Given the description of an element on the screen output the (x, y) to click on. 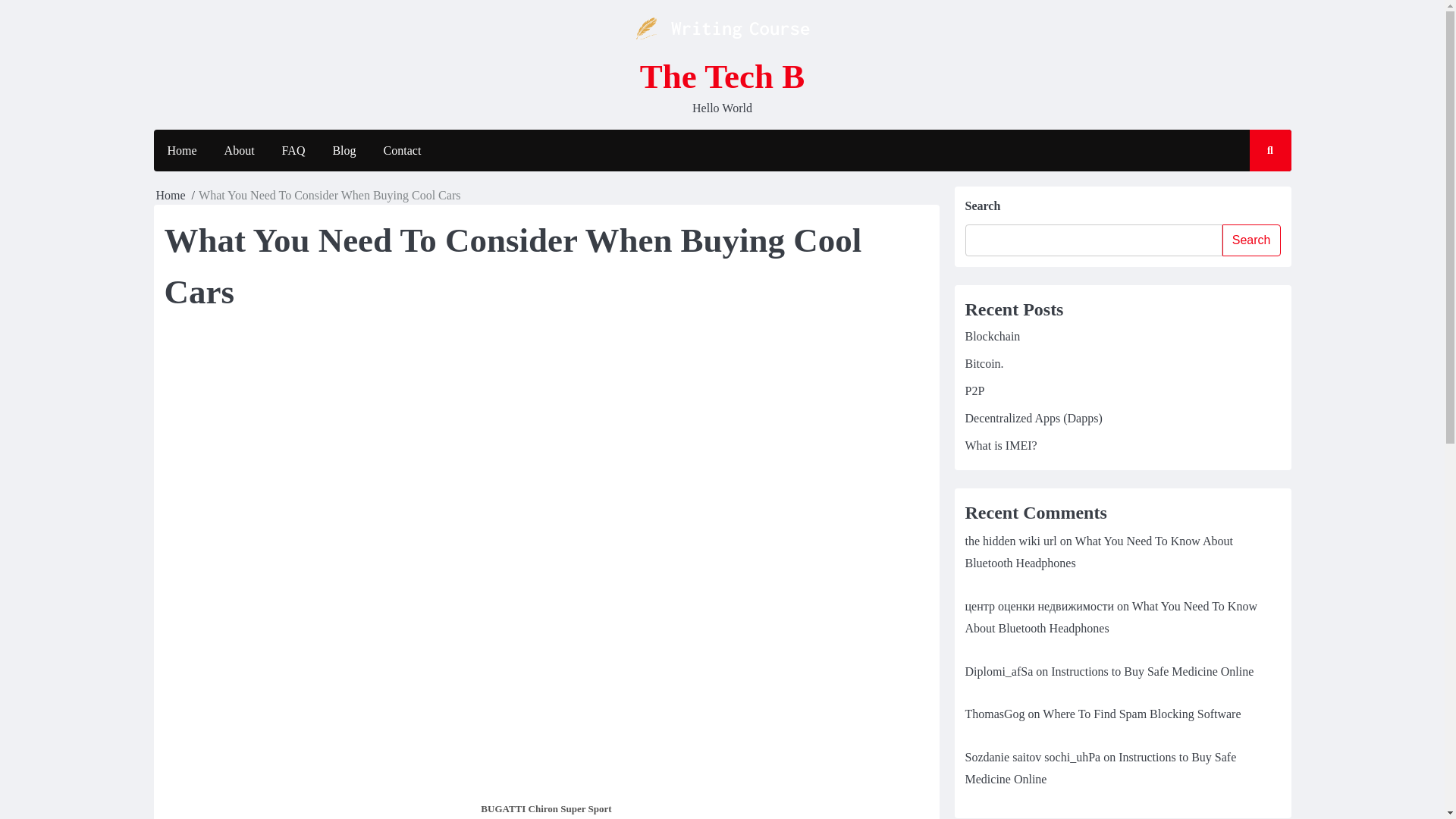
FAQ (292, 150)
Blog (343, 150)
the hidden wiki url (1010, 540)
ThomasGog (994, 713)
P2P (973, 390)
Home (180, 150)
Instructions to Buy Safe Medicine Online (1152, 671)
Where To Find Spam Blocking Software (1141, 713)
Contact (402, 150)
What You Need To Know About Bluetooth Headphones (1097, 551)
The Tech B (722, 76)
Bitcoin. (983, 363)
Home (170, 195)
About (239, 150)
